Given the description of an element on the screen output the (x, y) to click on. 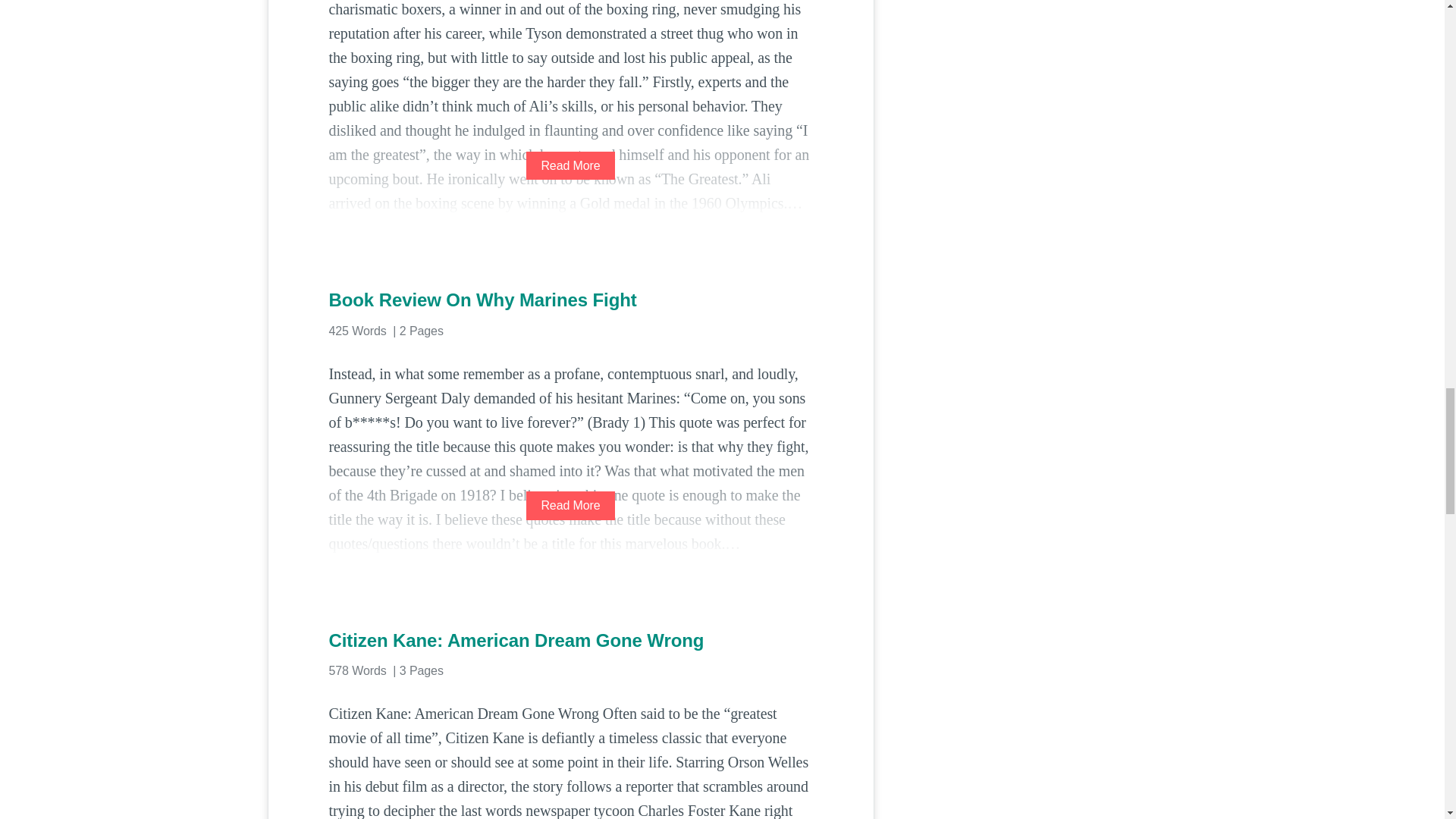
Citizen Kane: American Dream Gone Wrong (570, 640)
Read More (569, 165)
Read More (569, 505)
Book Review On Why Marines Fight (570, 300)
